Given the description of an element on the screen output the (x, y) to click on. 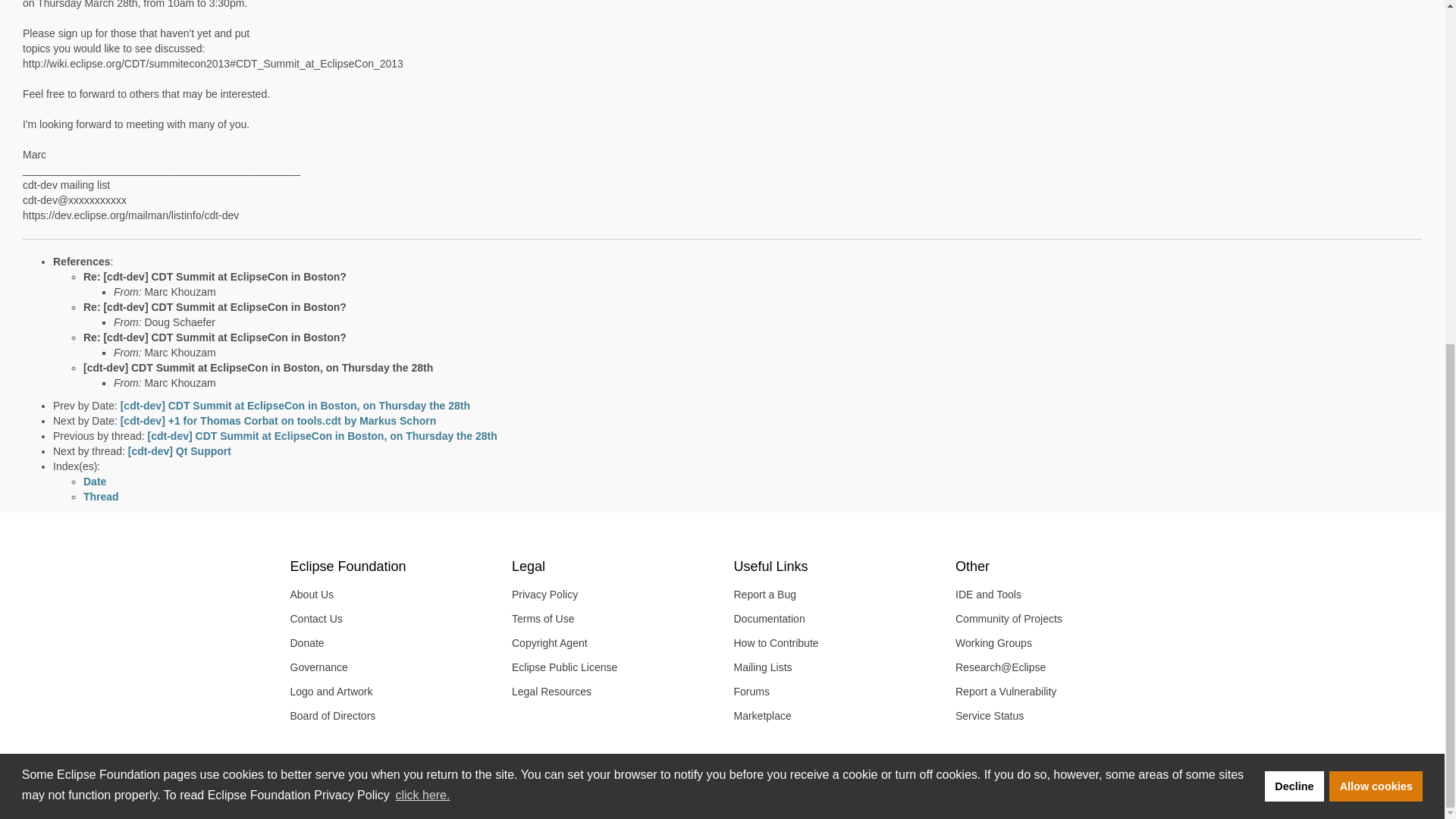
click here. (422, 207)
Allow cookies (1375, 198)
Decline (1294, 198)
